Given the description of an element on the screen output the (x, y) to click on. 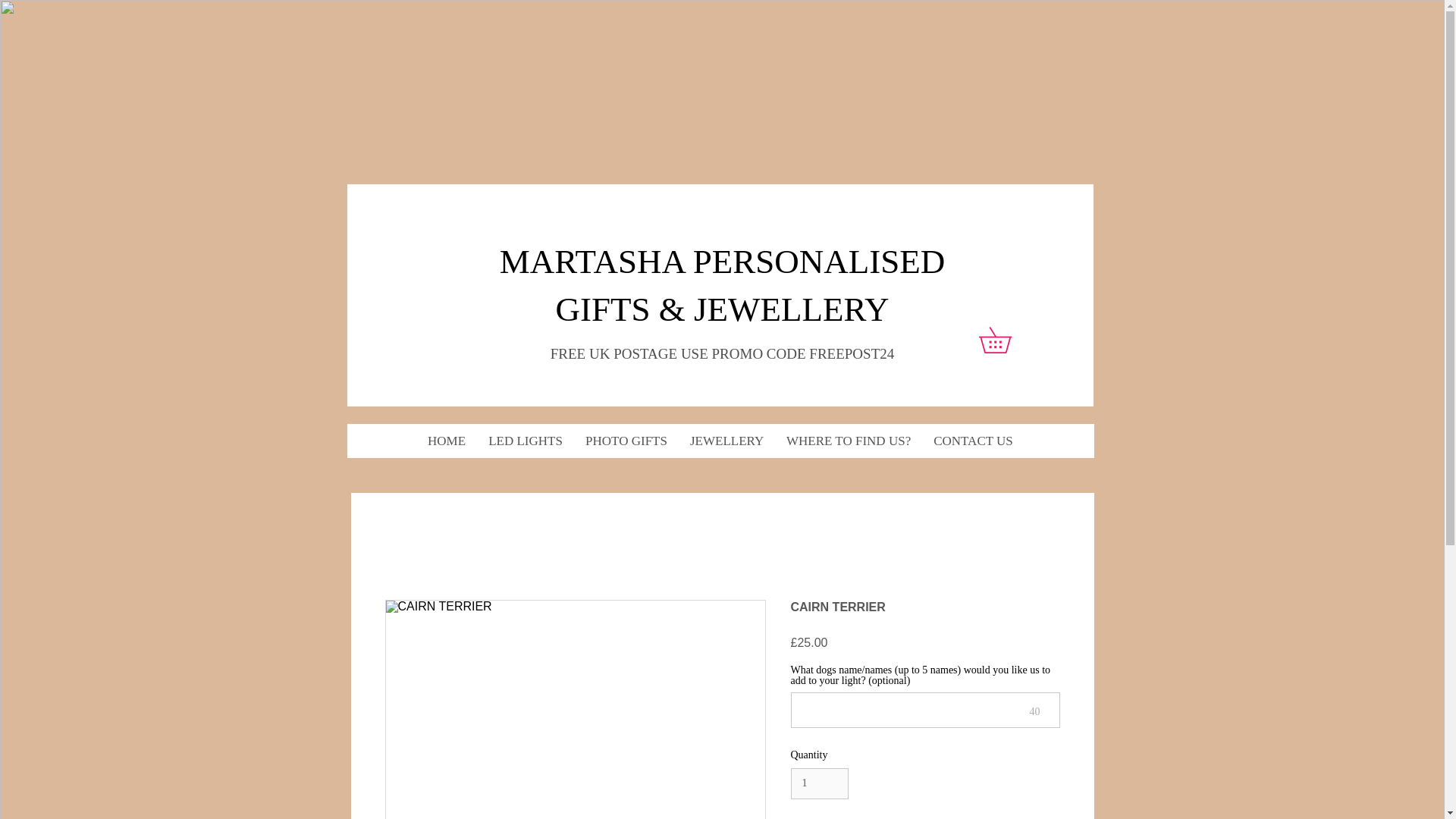
MARTASHA PERSONALISED (721, 261)
1 (818, 783)
HOME (446, 440)
CONTACT US (973, 440)
WHERE TO FIND US? (847, 440)
